Given the description of an element on the screen output the (x, y) to click on. 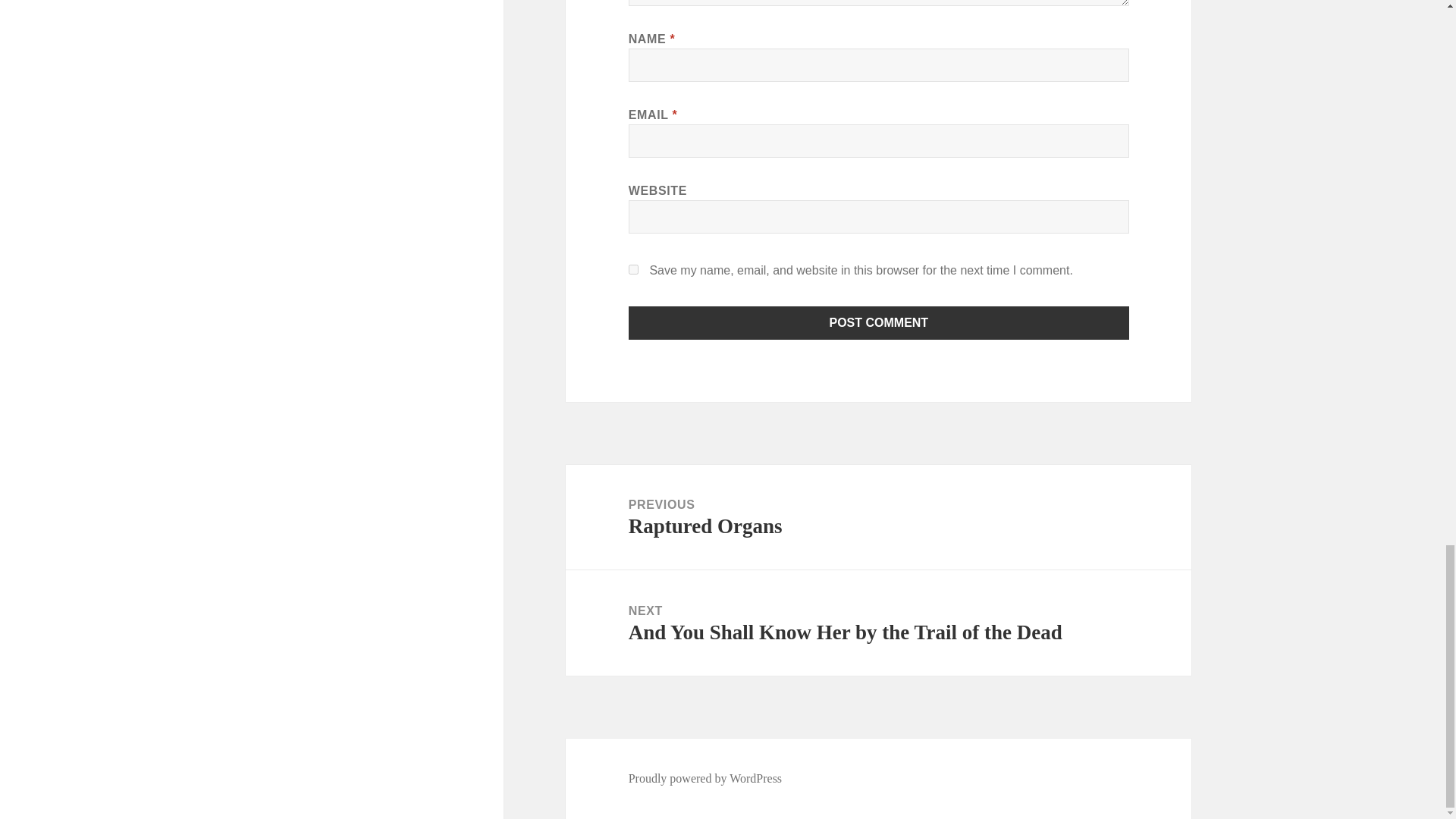
Post Comment (878, 517)
yes (878, 322)
Proudly powered by WordPress (633, 269)
Post Comment (704, 778)
